Given the description of an element on the screen output the (x, y) to click on. 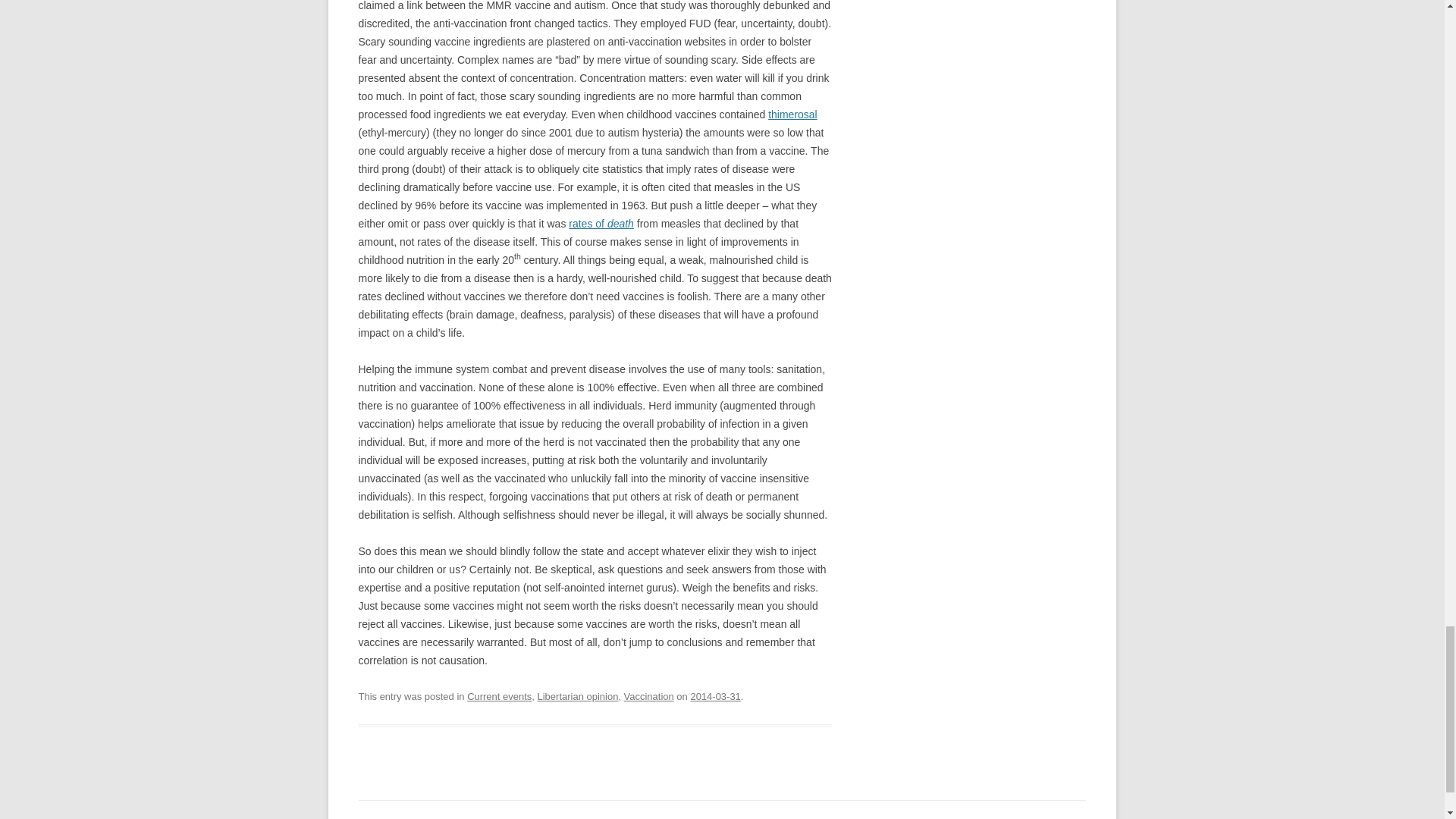
08:50 (714, 696)
